Given the description of an element on the screen output the (x, y) to click on. 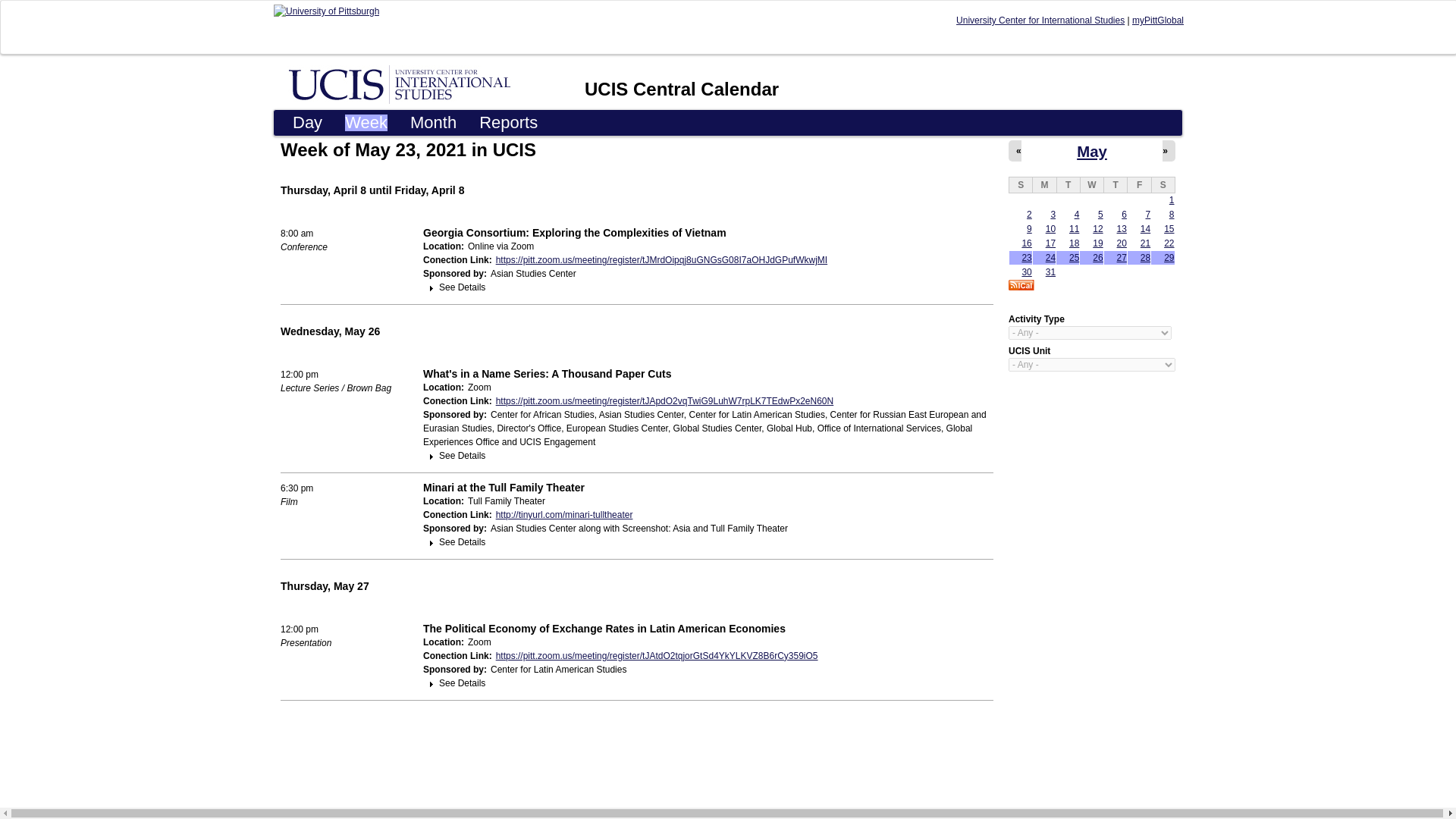
Reports (508, 122)
Add to My Calendar (1021, 285)
15 (1168, 228)
Day (306, 122)
University Center for International Studies (1040, 20)
May (1091, 151)
19 (1097, 243)
20 (1121, 243)
myPittGlobal (1157, 20)
10 (1050, 228)
